Given the description of an element on the screen output the (x, y) to click on. 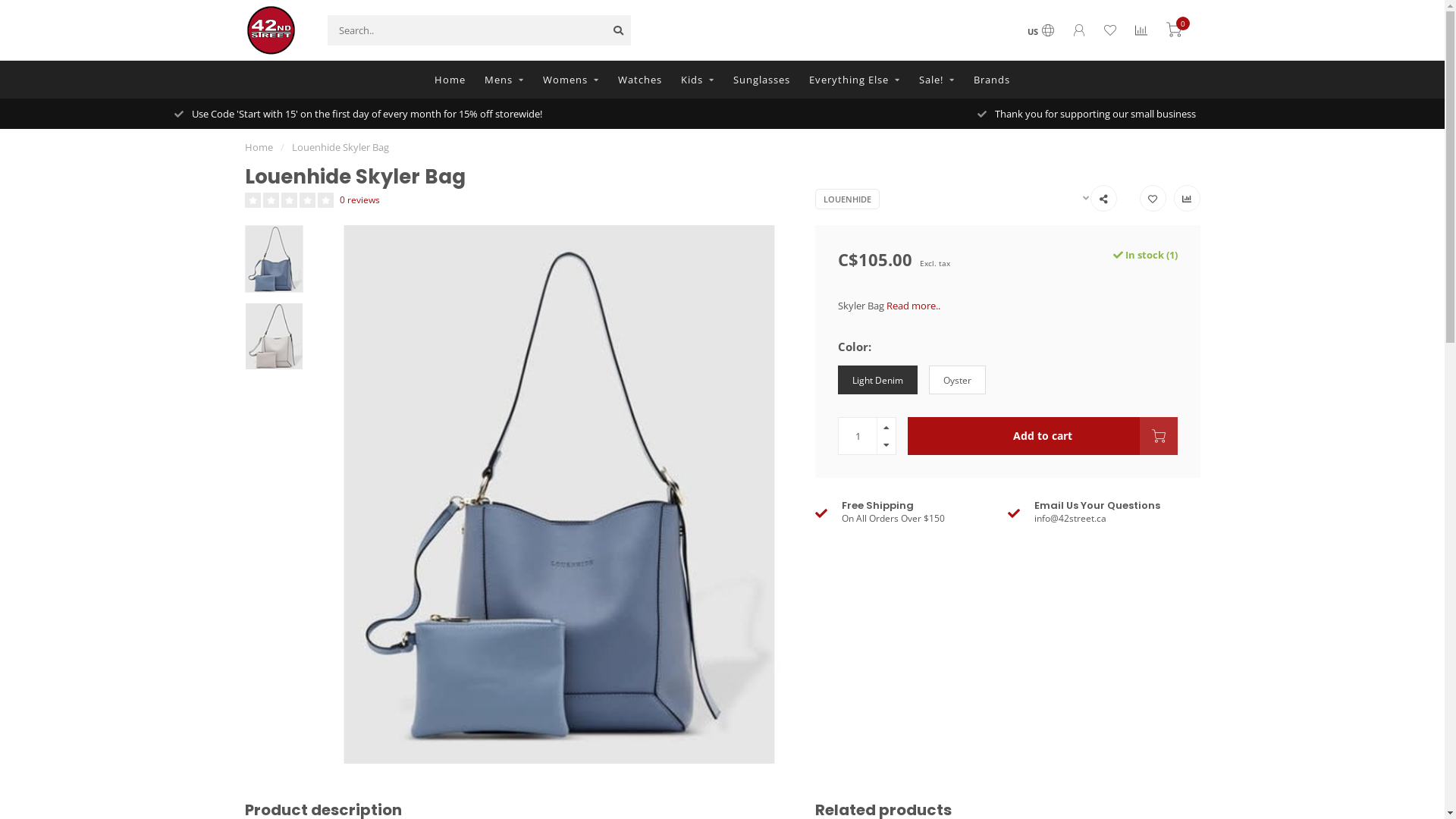
Read more.. Element type: text (913, 305)
Brands Element type: text (991, 79)
Oyster Element type: text (956, 380)
Mens Element type: text (504, 79)
Watches Element type: text (640, 79)
Add to cart Element type: text (1042, 436)
Sunglasses Element type: text (761, 79)
Kids Element type: text (697, 79)
Home Element type: text (258, 146)
Louenhide Skyler Bag Element type: text (339, 146)
0 reviews Element type: text (359, 199)
Home Element type: text (449, 79)
Light Denim Element type: text (877, 380)
0 Element type: text (1173, 32)
US Element type: text (1039, 31)
LOUENHIDE Element type: text (847, 198)
Sale! Element type: text (936, 79)
Everything Else Element type: text (854, 79)
Womens Element type: text (570, 79)
